Given the description of an element on the screen output the (x, y) to click on. 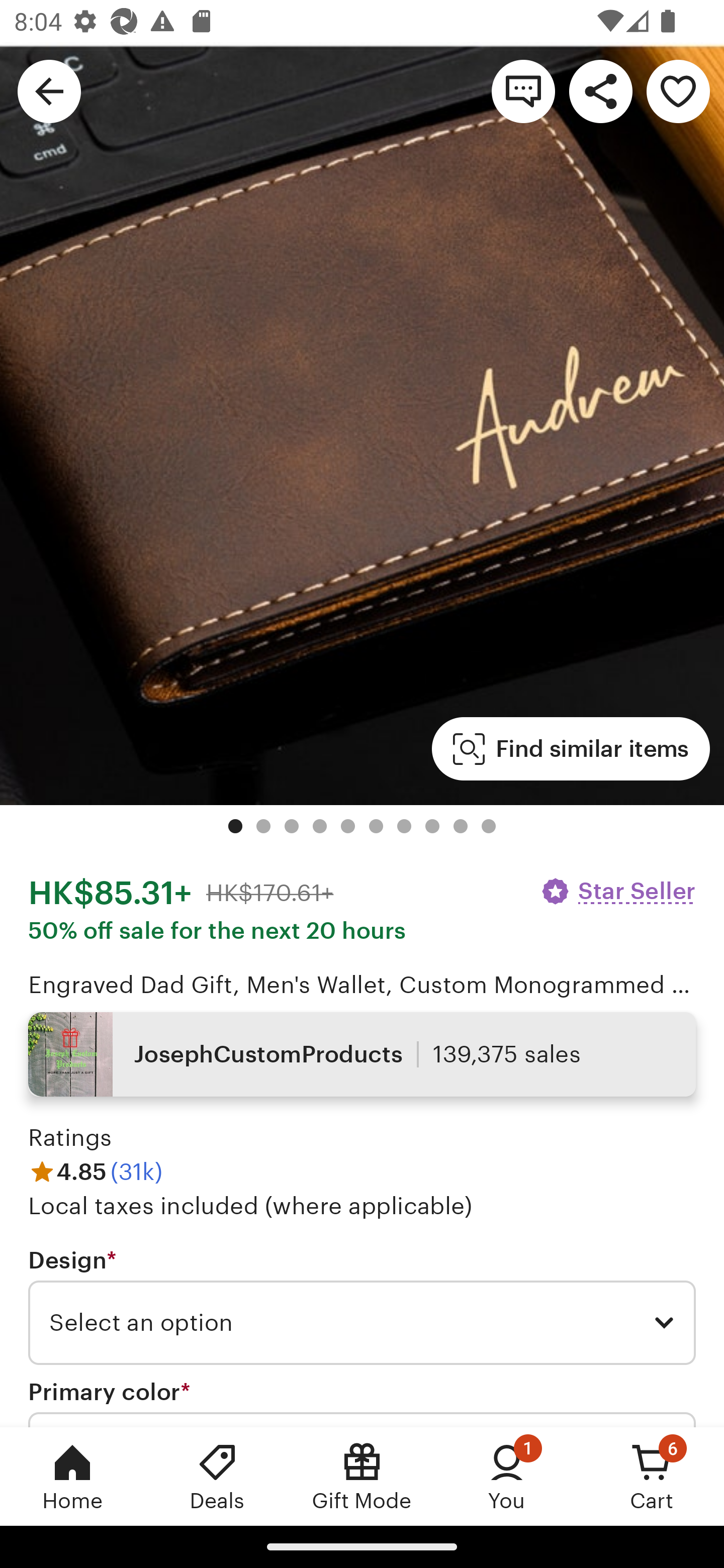
Navigate up (49, 90)
Contact shop (523, 90)
Share (600, 90)
Find similar items (571, 748)
Star Seller (617, 890)
JosephCustomProducts 139,375 sales (361, 1054)
Ratings (70, 1137)
4.85 (31k) (95, 1171)
Design * Required Select an option (361, 1306)
Select an option (361, 1323)
Primary color * Required Select an option (361, 1402)
Deals (216, 1475)
Gift Mode (361, 1475)
You, 1 new notification You (506, 1475)
Cart, 6 new notifications Cart (651, 1475)
